Given the description of an element on the screen output the (x, y) to click on. 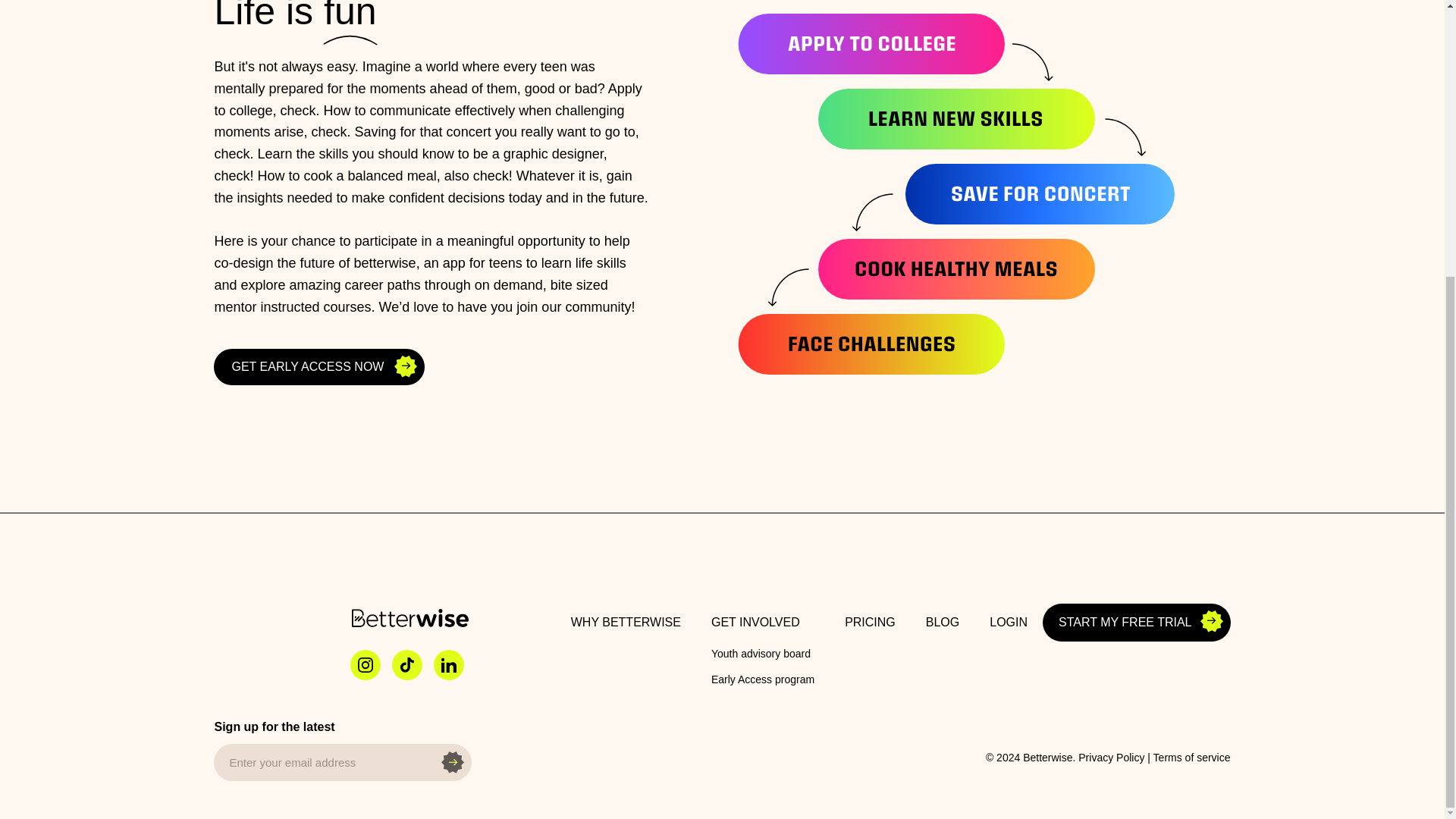
Terms of service (1191, 757)
GET EARLY ACCESS NOW (319, 366)
SUBMIT (440, 757)
Privacy Policy (1111, 757)
LOGIN (1008, 622)
PRICING (870, 622)
WHY BETTERWISE (625, 622)
Early Access program (762, 679)
BLOG (942, 622)
Youth advisory board (762, 653)
GET INVOLVED (762, 622)
START MY FREE TRIAL (1136, 622)
